Given the description of an element on the screen output the (x, y) to click on. 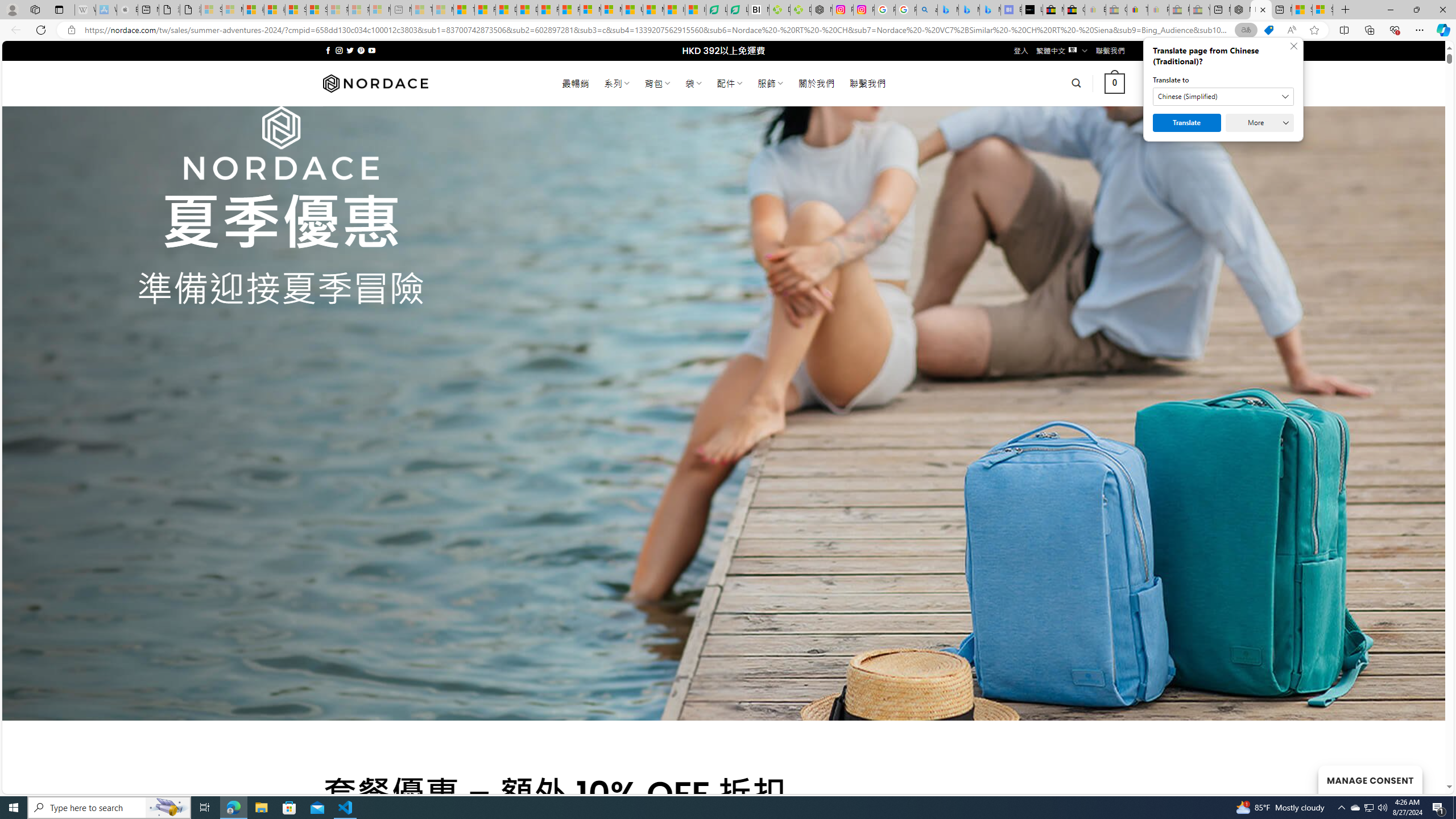
Descarga Driver Updater (800, 9)
MANAGE CONSENT (1369, 779)
Sign in to your Microsoft account - Sleeping (211, 9)
Food and Drink - MSN (485, 9)
LendingTree - Compare Lenders (737, 9)
